Given the description of an element on the screen output the (x, y) to click on. 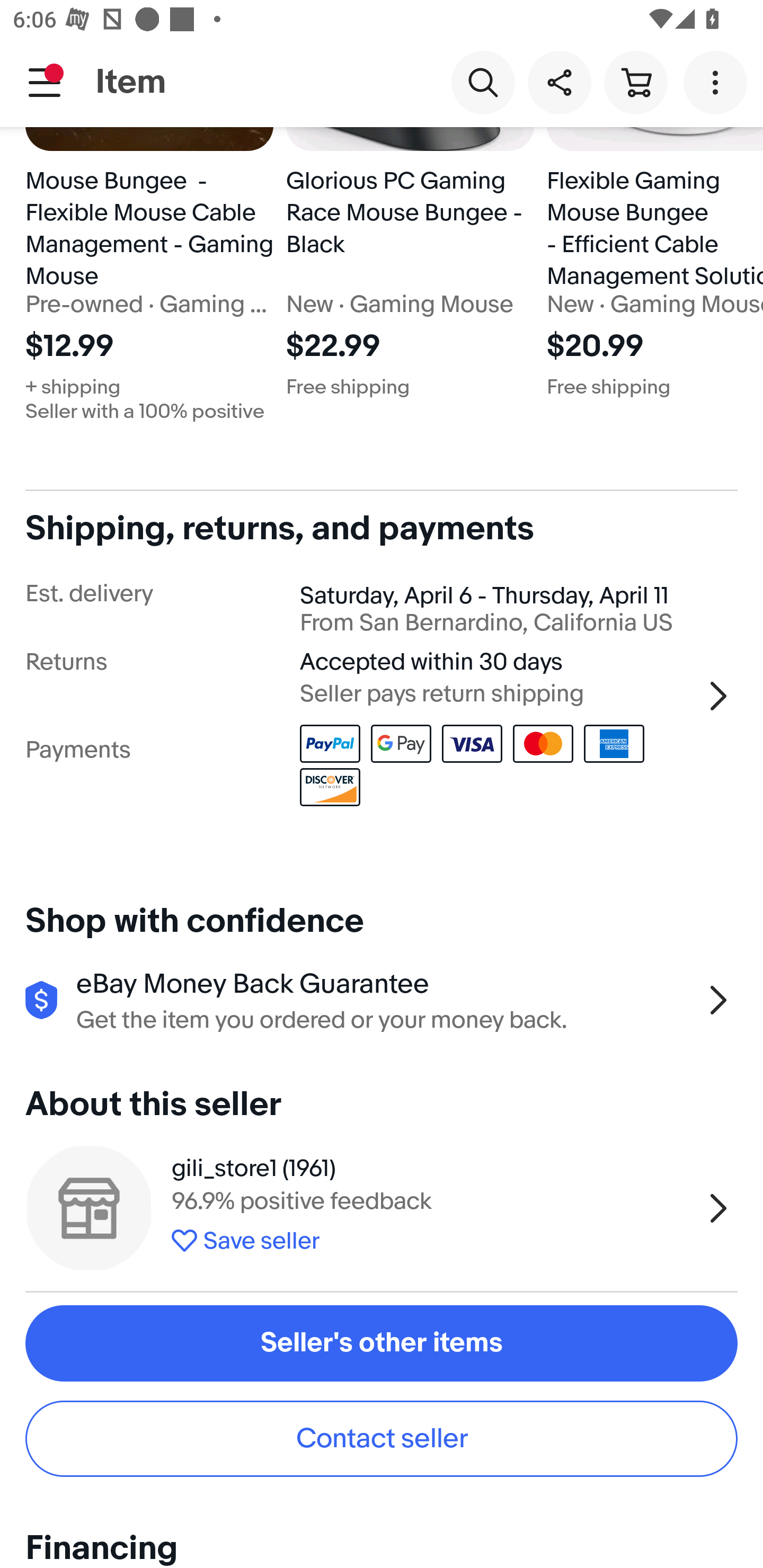
Main navigation, notification is pending, open (44, 82)
Search (482, 81)
Share this item (559, 81)
Cart button shopping cart (635, 81)
More options (718, 81)
Save seller (431, 1236)
Seller's other items (381, 1342)
Contact seller (381, 1438)
